Given the description of an element on the screen output the (x, y) to click on. 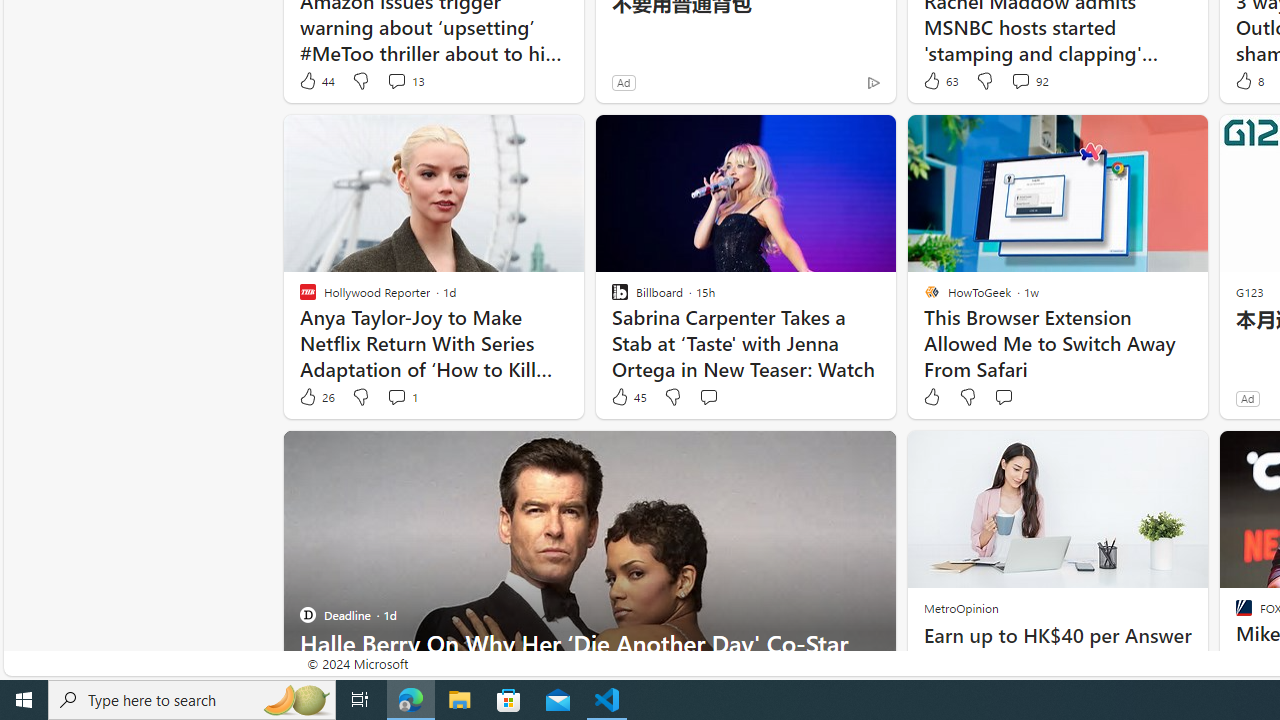
MetroOpinion (960, 607)
View comments 1 Comment (401, 397)
View comments 13 Comment (396, 80)
G123 (1249, 291)
44 Like (316, 80)
Like (930, 397)
View comments 1 Comment (396, 396)
Earn up to HK$40 per Answer (1056, 636)
